Given the description of an element on the screen output the (x, y) to click on. 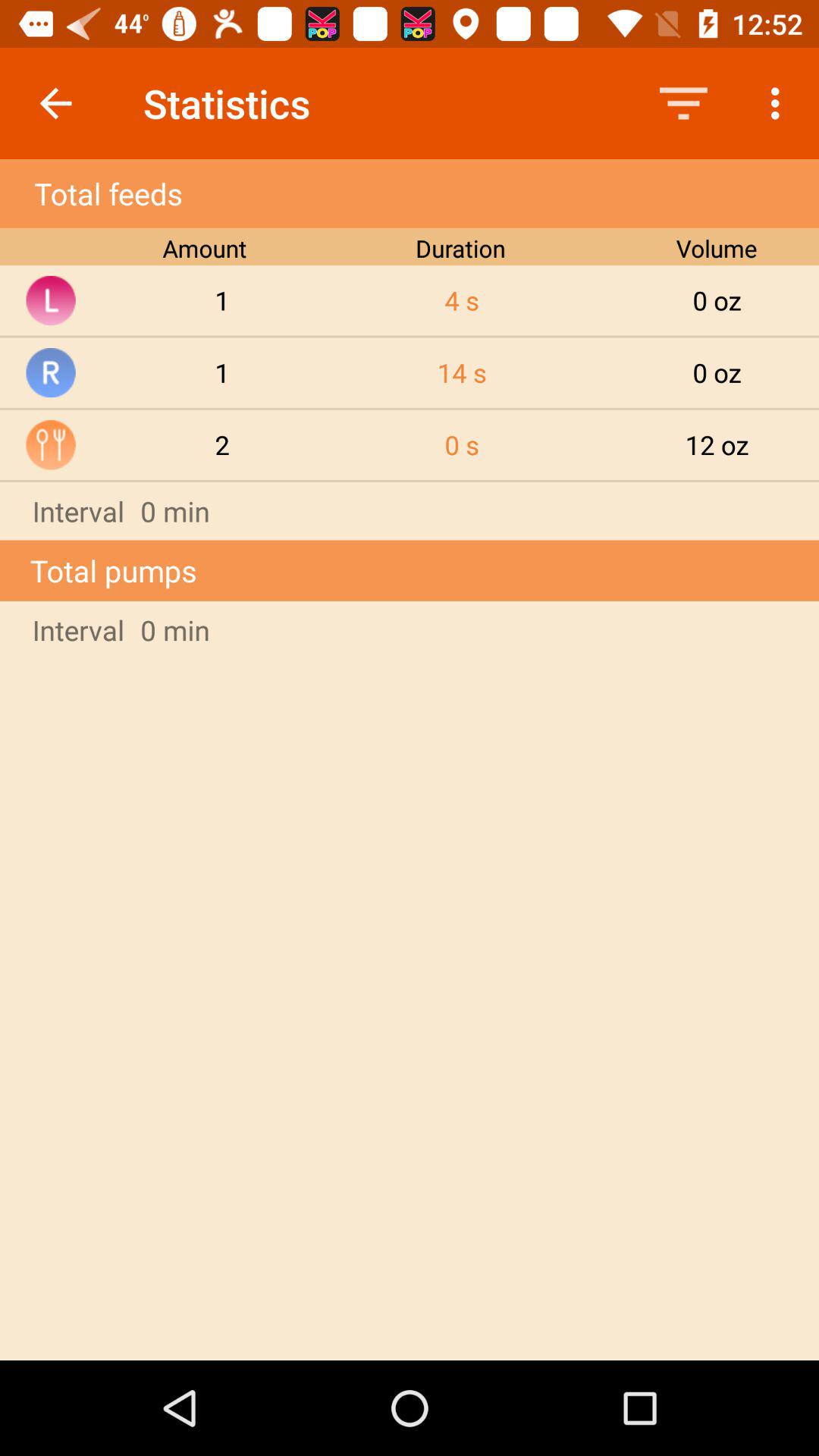
press item next to amount item (461, 300)
